Given the description of an element on the screen output the (x, y) to click on. 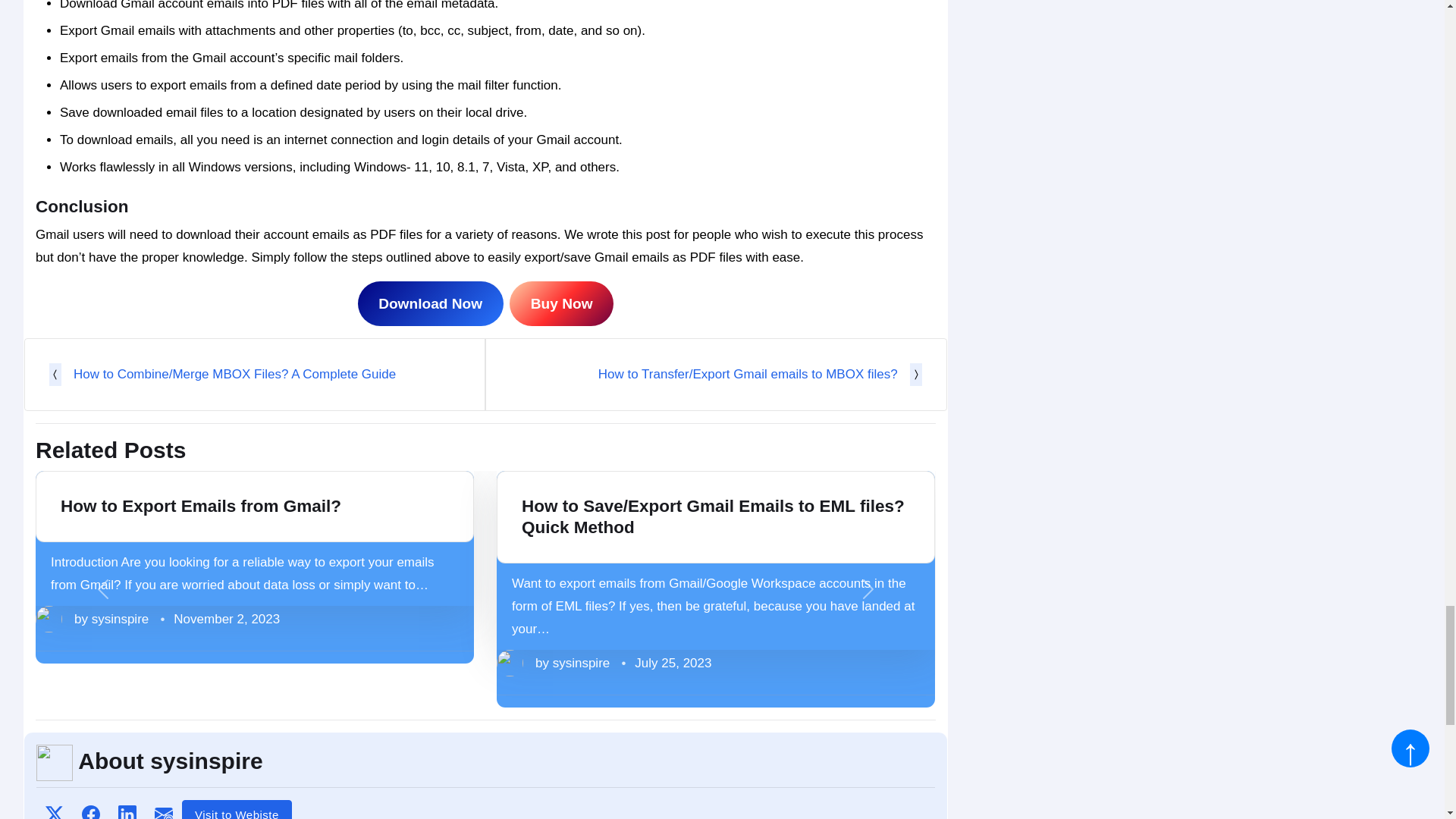
Download Now (430, 302)
Buy Now (560, 302)
